Given the description of an element on the screen output the (x, y) to click on. 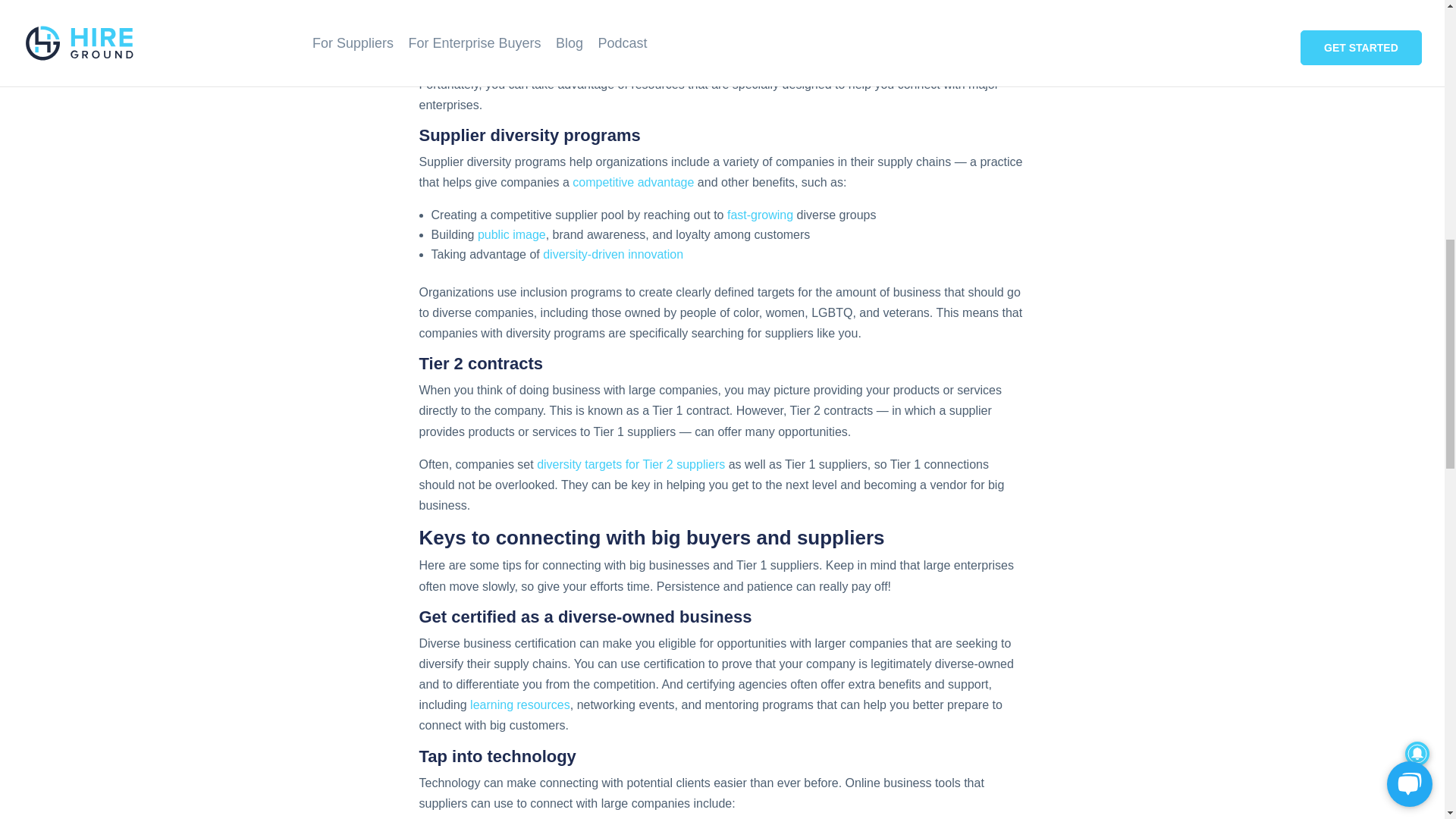
public image (511, 234)
learning resources (520, 704)
competitive advantage (633, 182)
diversity-driven innovation (612, 254)
diversity targets for Tier 2 suppliers (631, 463)
spending billions of dollars (532, 24)
fast-growing (759, 214)
